Given the description of an element on the screen output the (x, y) to click on. 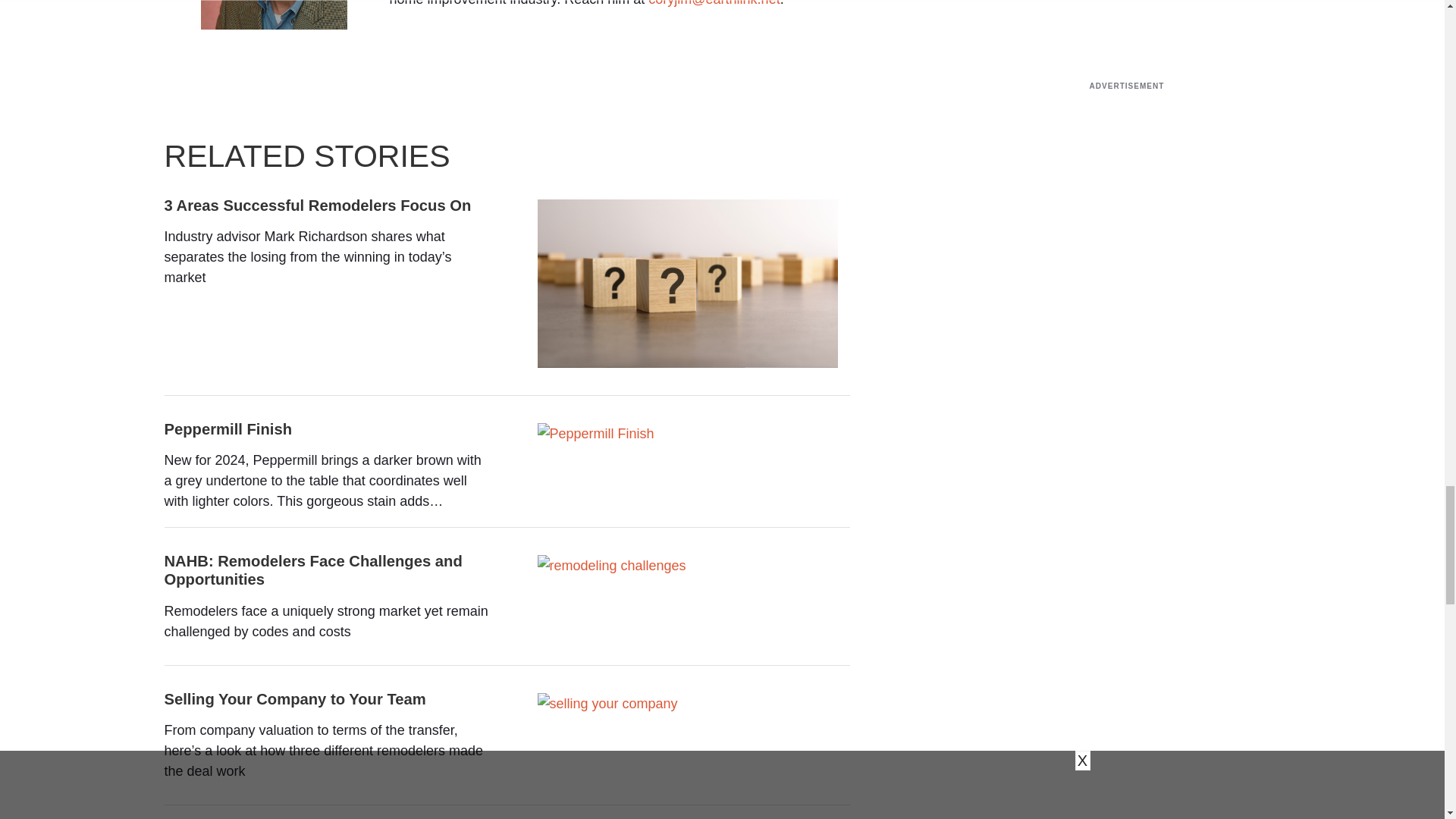
Adobe stock image (606, 703)
Peppermill Finish (594, 434)
3rd party ad content (1126, 100)
3rd party ad content (506, 96)
Adobe Stock Photo (610, 565)
